Given the description of an element on the screen output the (x, y) to click on. 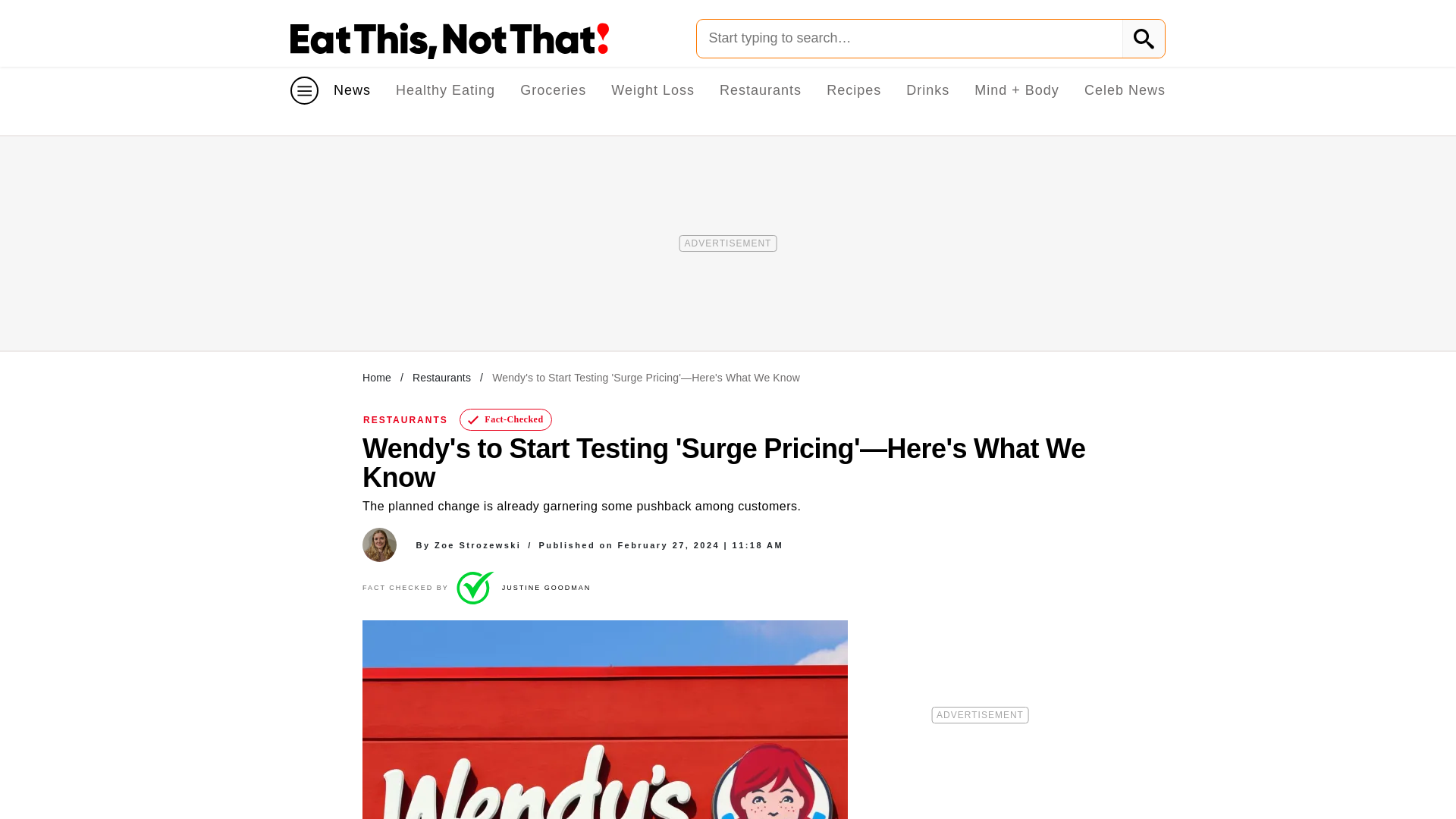
Recipes (853, 89)
Drinks (927, 89)
Healthy Eating (445, 89)
Type and press Enter to search (930, 38)
Groceries (552, 89)
Celeb News (1125, 89)
RESTAURANTS (405, 419)
News (352, 89)
Toggle navigation (303, 90)
Weight Loss (652, 89)
Restaurants (441, 377)
Home (376, 377)
Restaurants (760, 89)
